Given the description of an element on the screen output the (x, y) to click on. 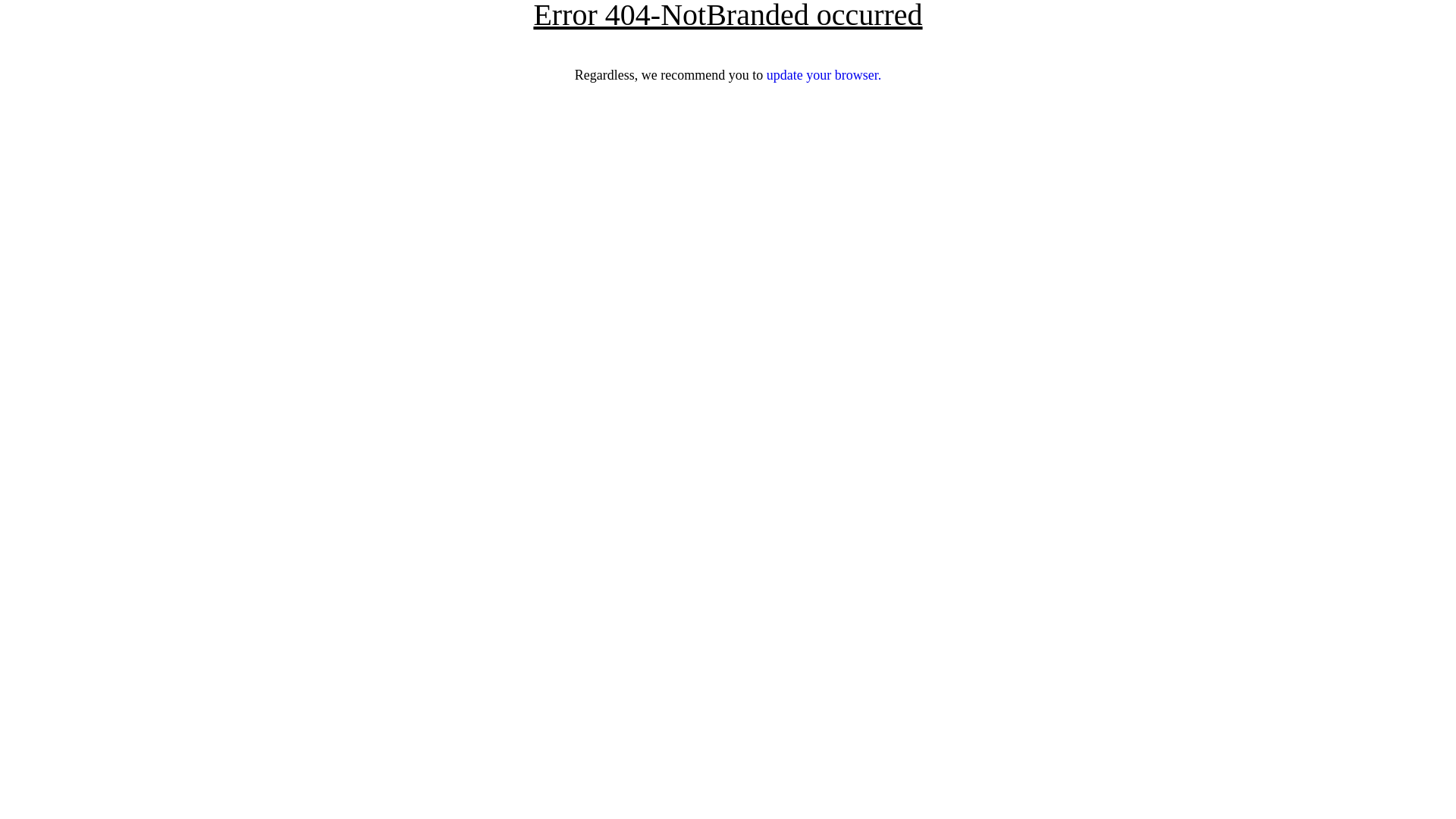
update your browser. Element type: text (823, 74)
